Given the description of an element on the screen output the (x, y) to click on. 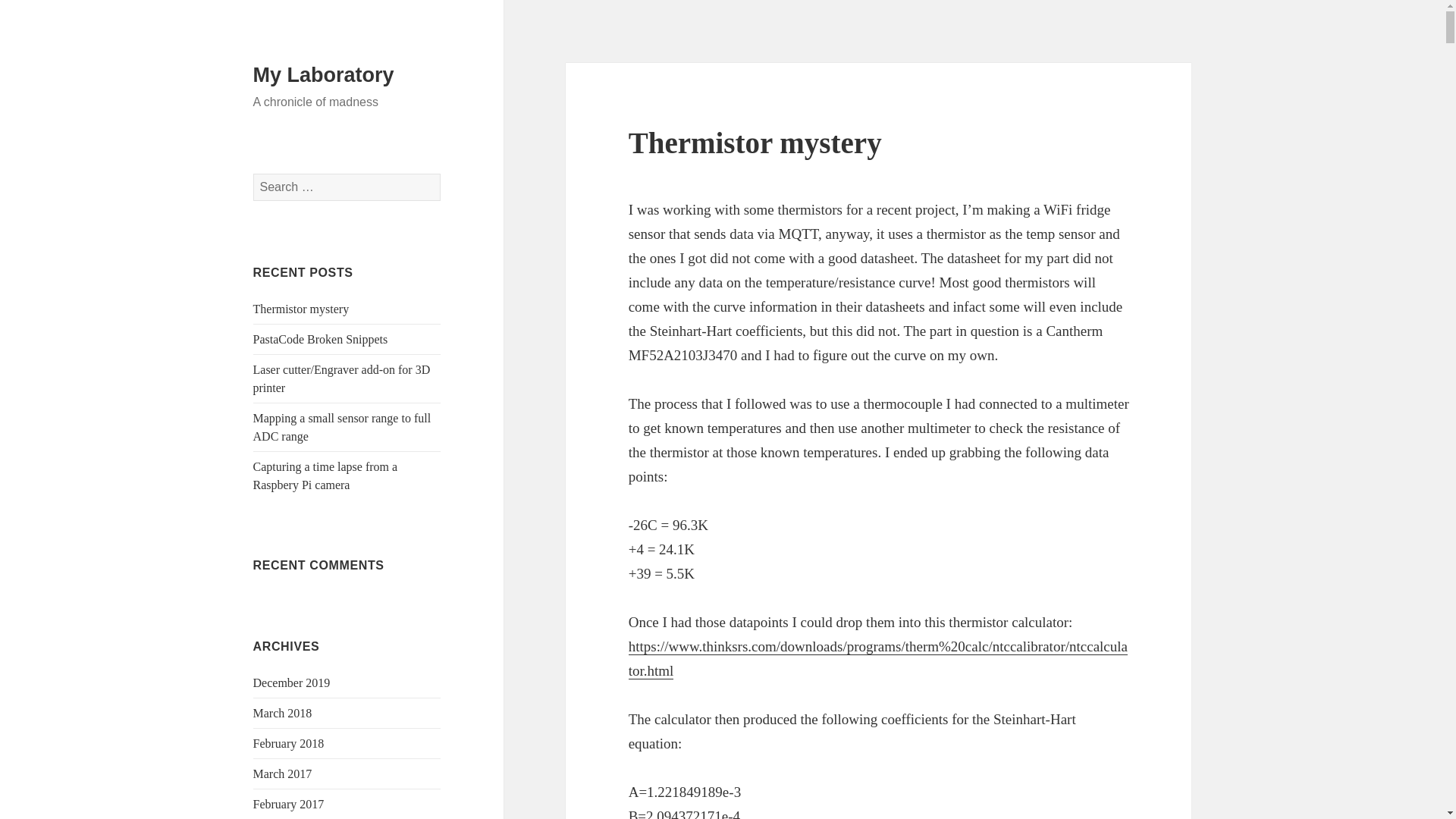
December 2019 (291, 682)
PastaCode Broken Snippets (320, 338)
February 2018 (288, 743)
Capturing a time lapse from a Raspbery Pi camera (325, 475)
March 2017 (283, 773)
February 2017 (288, 803)
Thermistor mystery (755, 142)
Thermistor mystery (301, 308)
My Laboratory (323, 74)
